Given the description of an element on the screen output the (x, y) to click on. 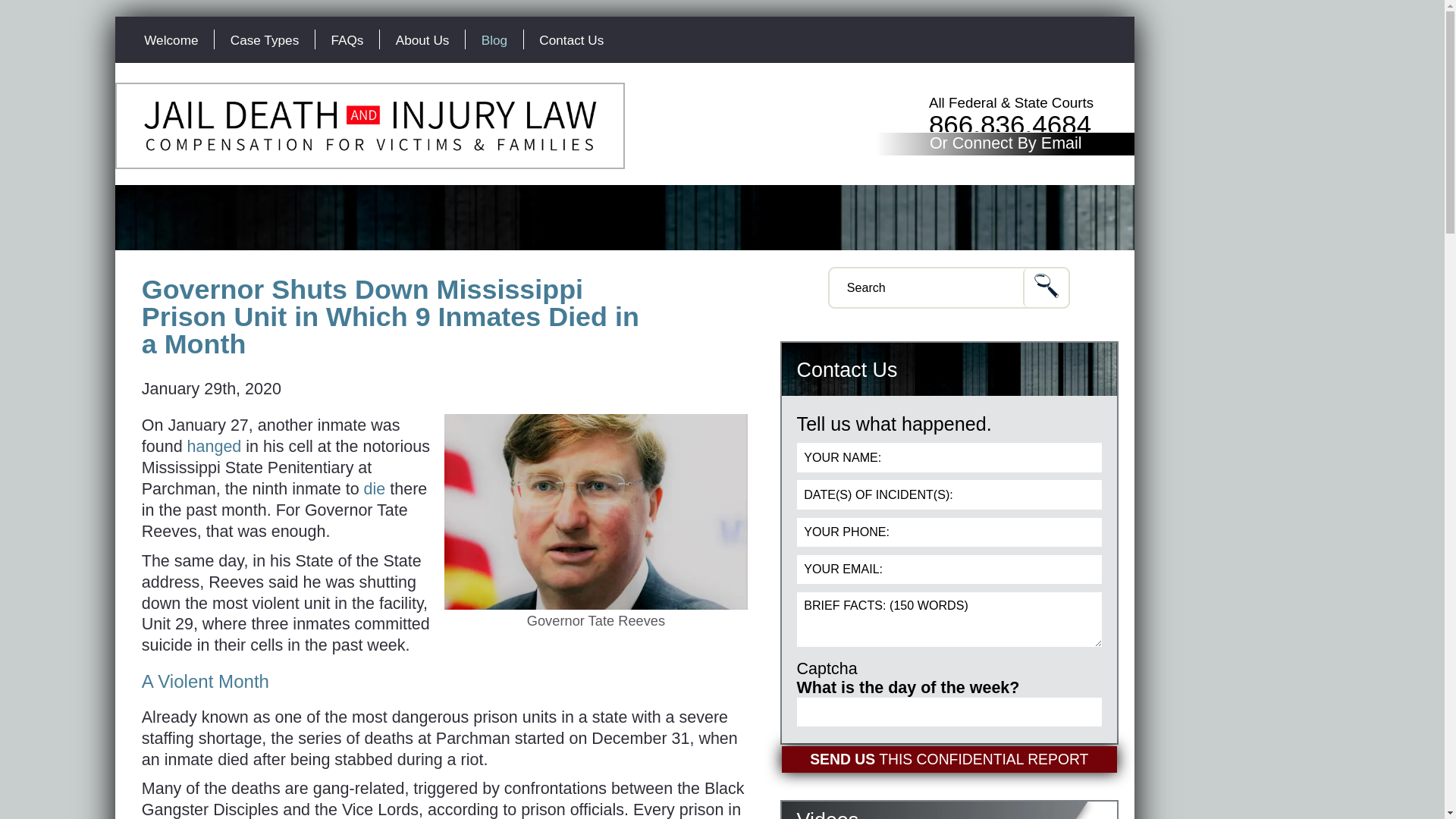
Case Types (264, 39)
die (374, 488)
hanged (214, 446)
Or Connect By Email (1006, 143)
FAQs (346, 39)
Welcome (171, 39)
Blog (493, 39)
Case Types (264, 39)
Contact Us (572, 39)
866.836.4684 (1009, 124)
